Given the description of an element on the screen output the (x, y) to click on. 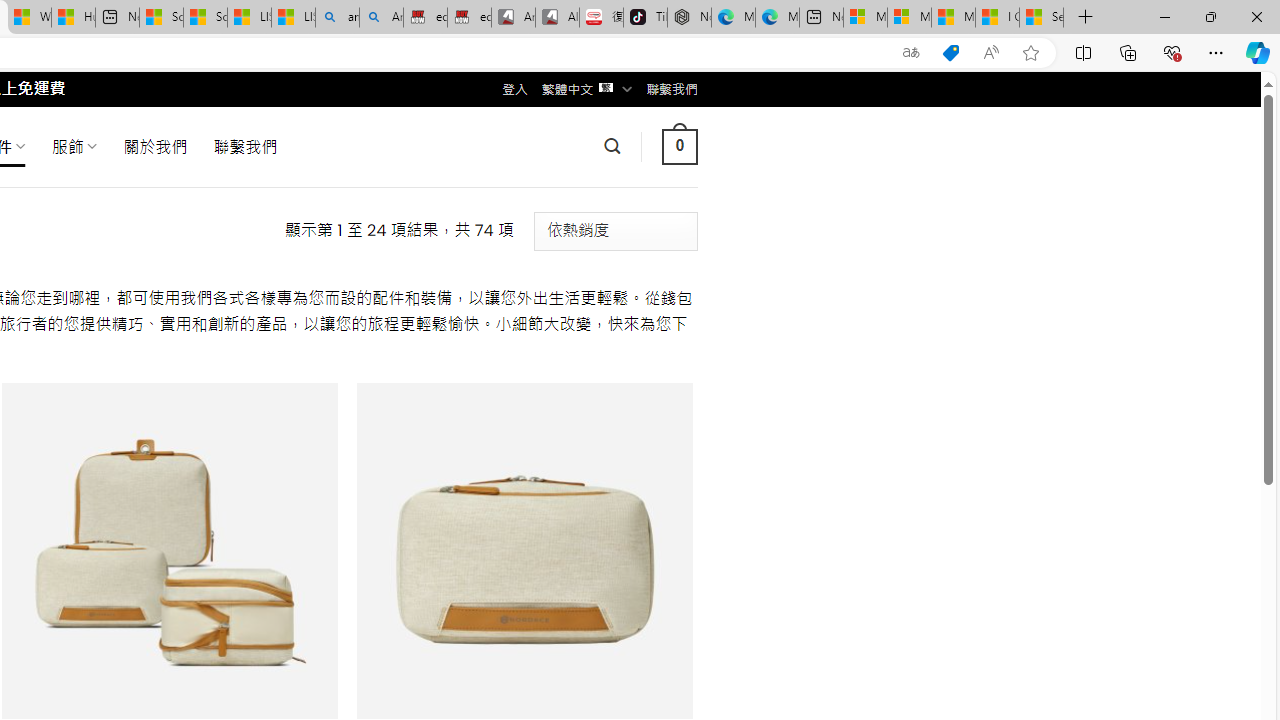
Amazon Echo Dot PNG - Search Images (381, 17)
Microsoft account | Privacy (909, 17)
  0   (679, 146)
I Gained 20 Pounds of Muscle in 30 Days! | Watch (996, 17)
